Given the description of an element on the screen output the (x, y) to click on. 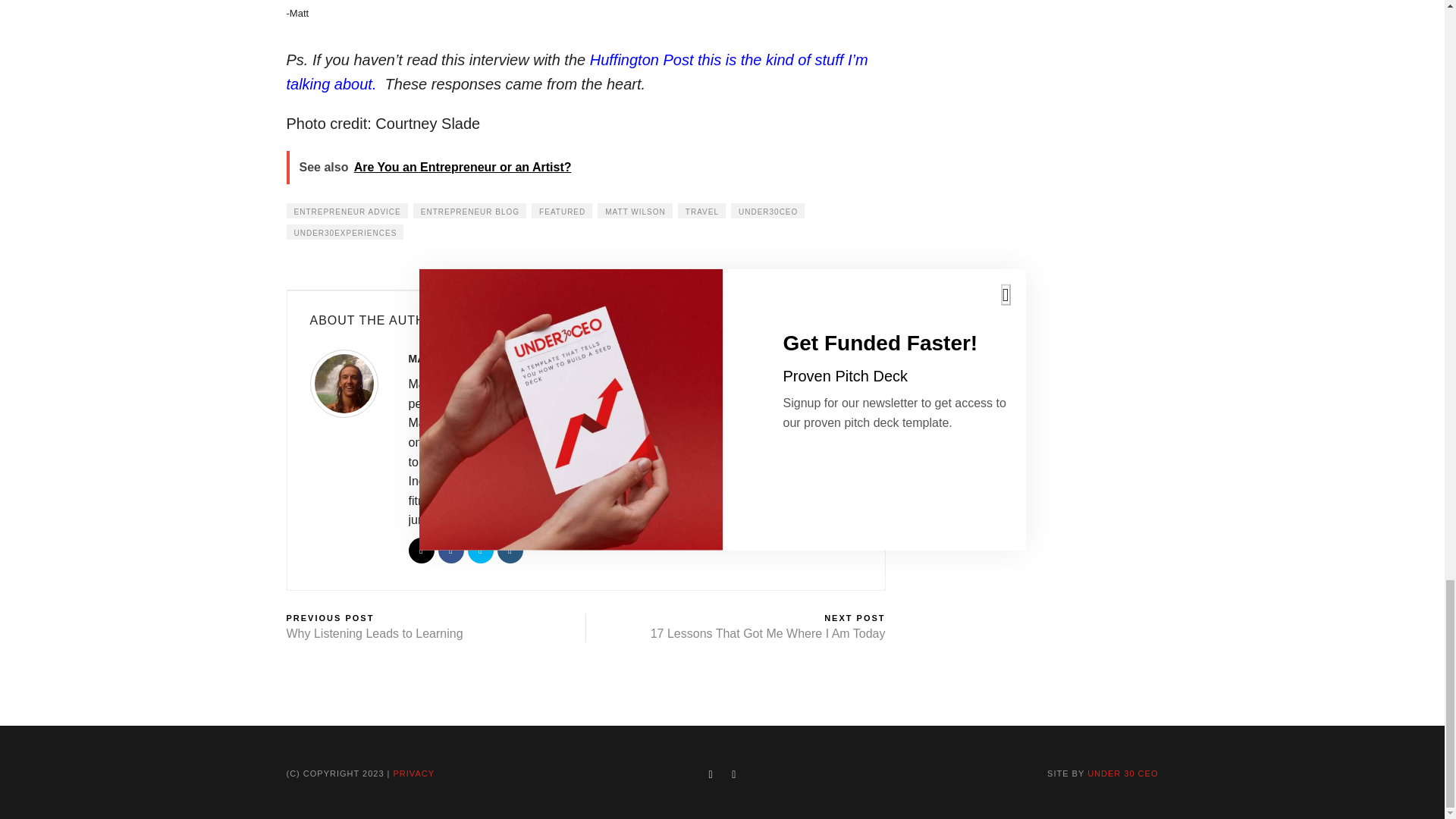
Facebook (451, 550)
Instagram (509, 550)
Posts by Matt Wilson (444, 358)
Twitter (480, 550)
Visit Author Page (350, 388)
Matt Wilson 's site (420, 550)
